Given the description of an element on the screen output the (x, y) to click on. 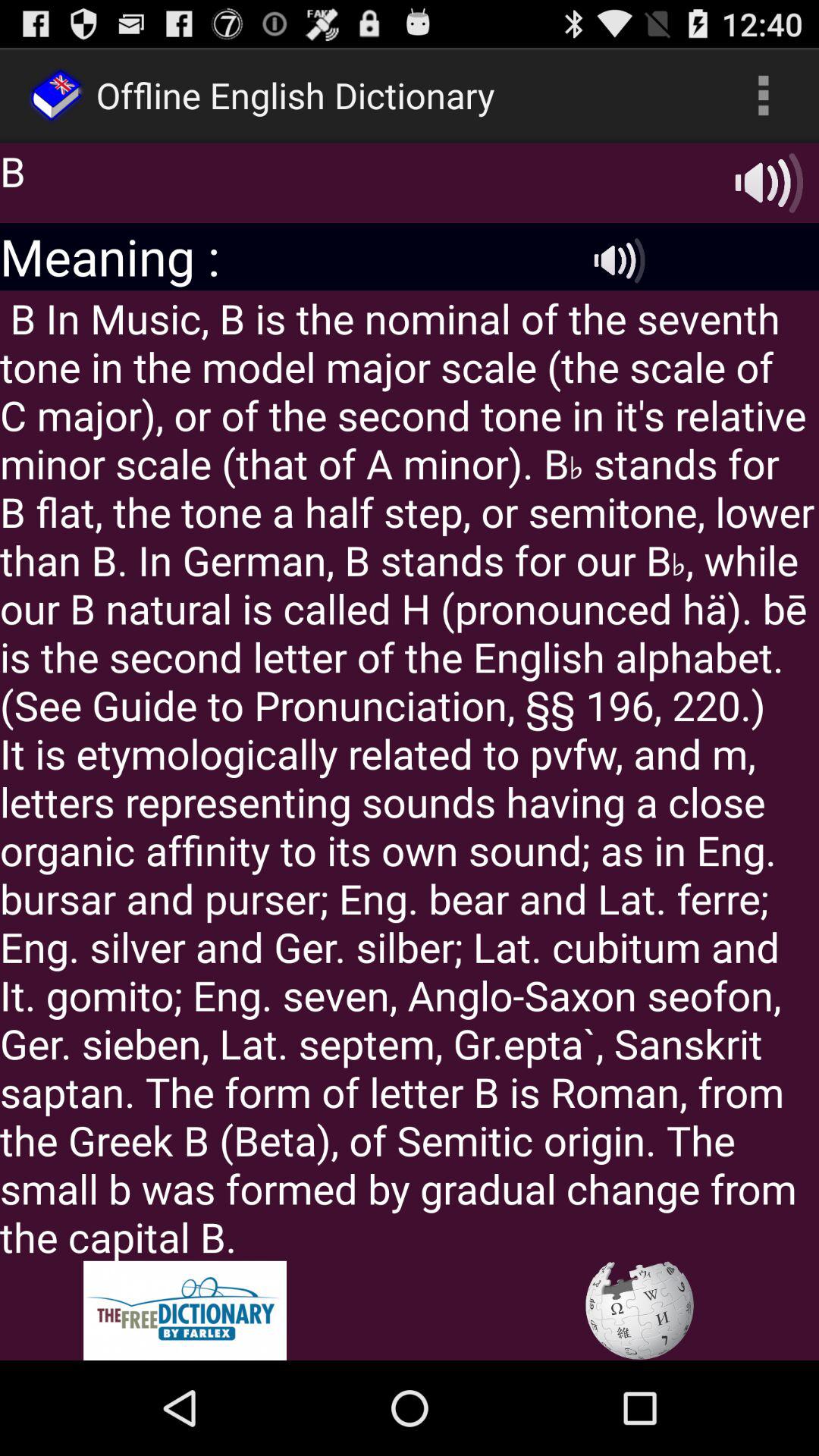
turn off the app below the meaning : icon (409, 775)
